Given the description of an element on the screen output the (x, y) to click on. 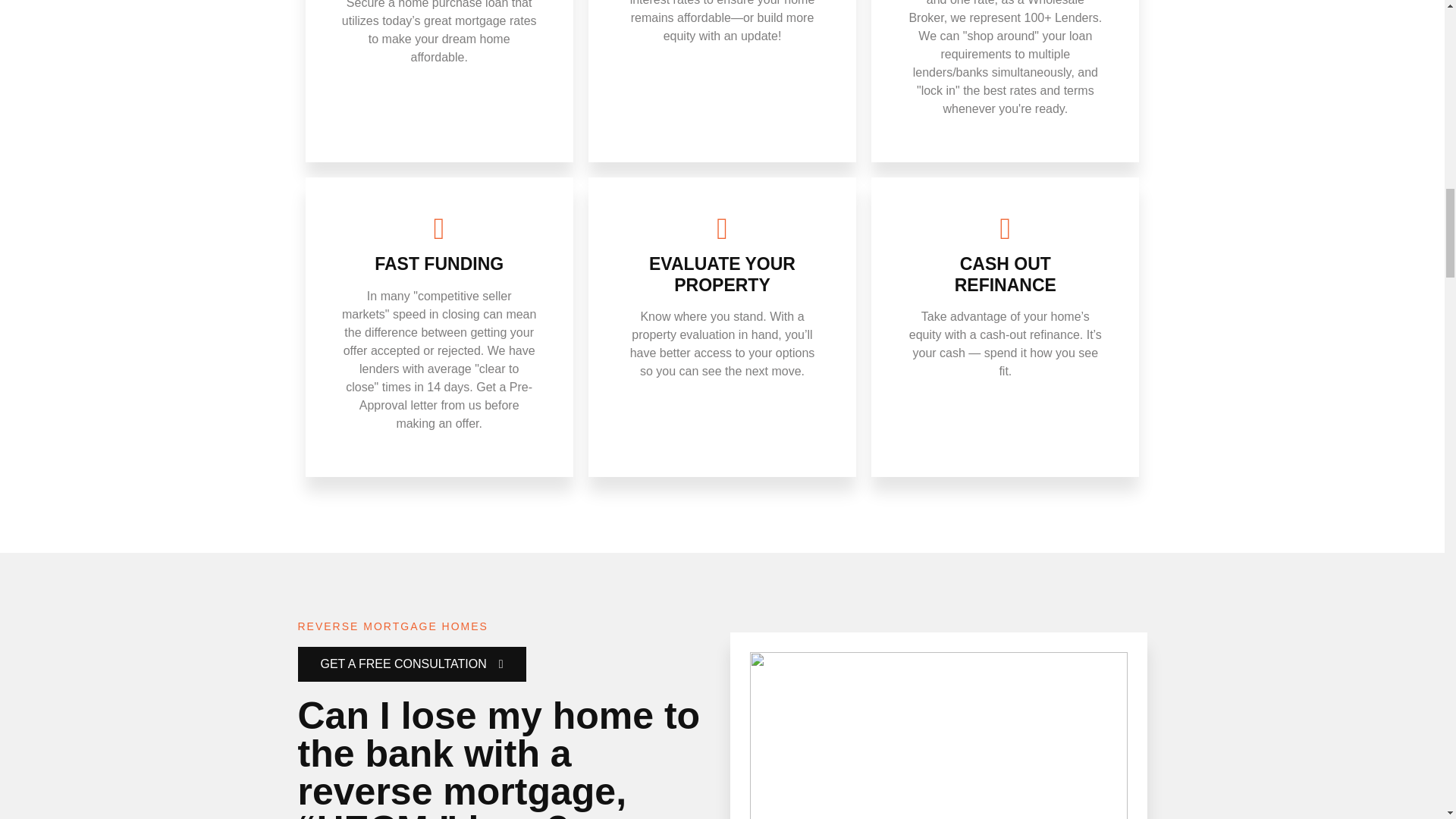
GET A FREE CONSULTATION (411, 664)
